Given the description of an element on the screen output the (x, y) to click on. 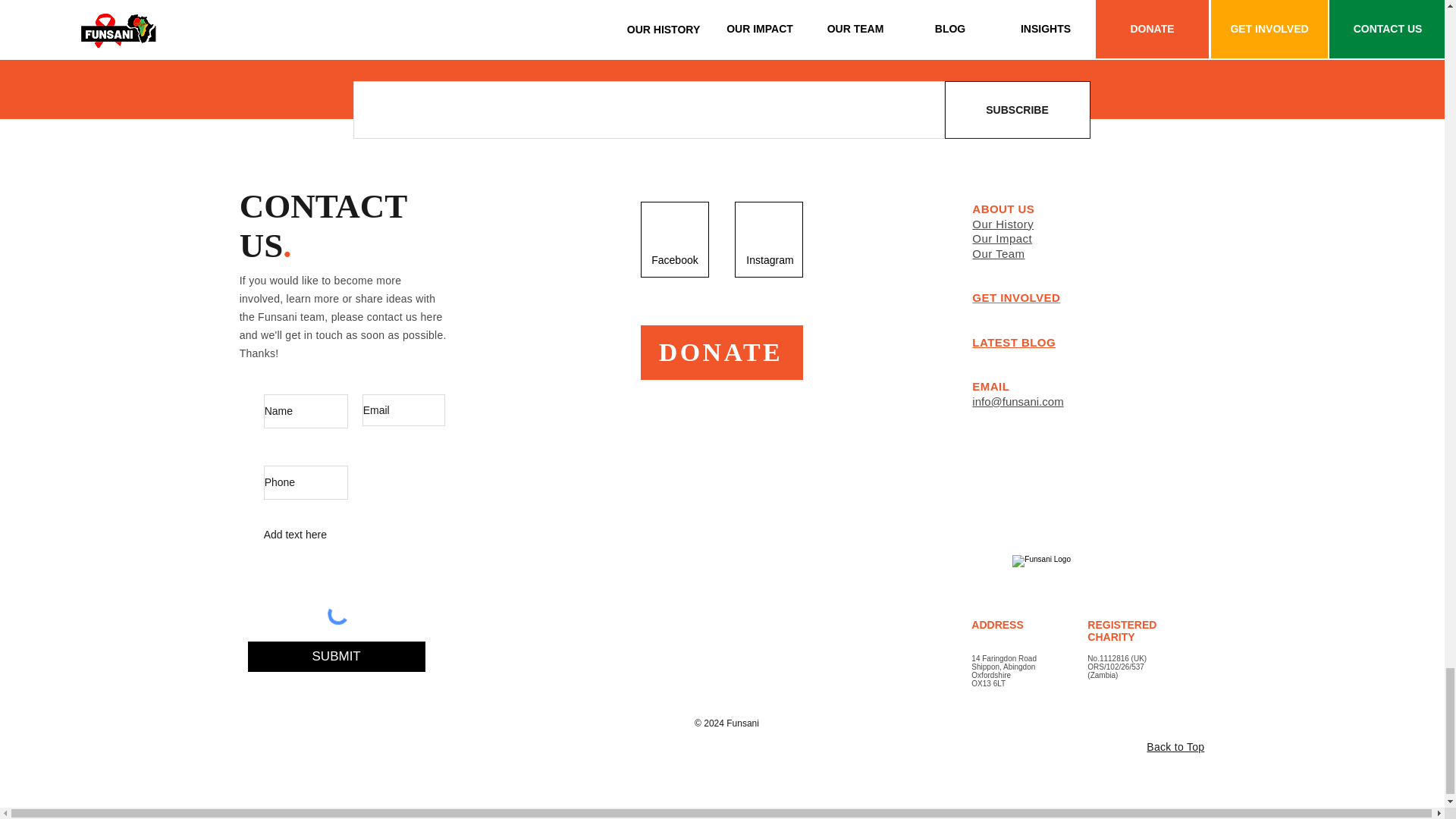
Our History (1002, 223)
SUBSCRIBE (1017, 109)
DONATE (721, 352)
Instagram (769, 259)
Facebook (674, 259)
SUBMIT (336, 656)
